Given the description of an element on the screen output the (x, y) to click on. 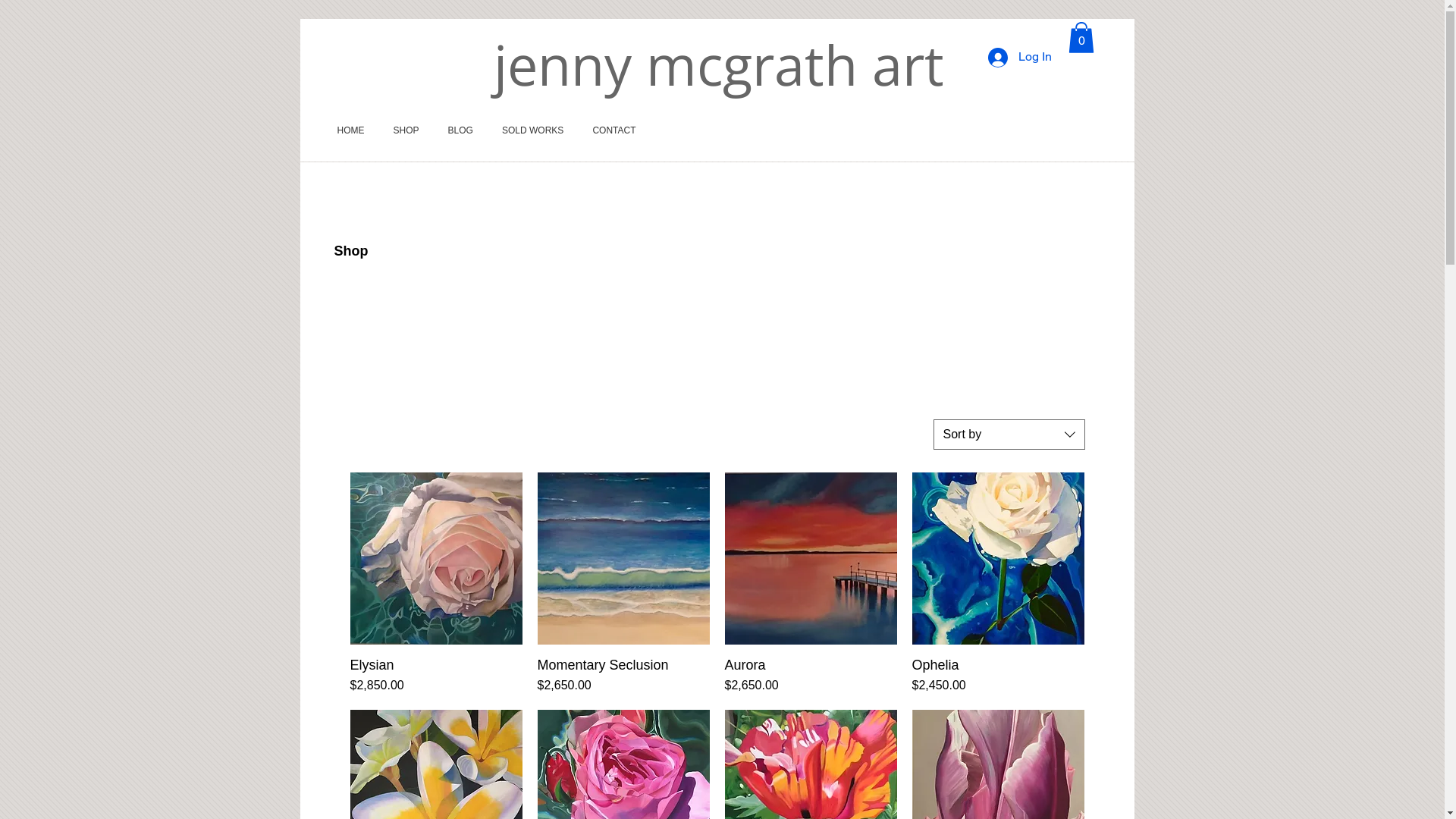
SOLD WORKS Element type: text (532, 130)
Aurora
Price
$2,650.00 Element type: text (810, 675)
SHOP Element type: text (406, 130)
Log In Element type: text (1018, 57)
0 Element type: text (1080, 37)
Momentary Seclusion
Price
$2,650.00 Element type: text (622, 675)
Ophelia
Price
$2,450.00 Element type: text (997, 675)
CONTACT Element type: text (613, 130)
HOME Element type: text (351, 130)
Elysian
Price
$2,850.00 Element type: text (436, 675)
Sort by Element type: text (1008, 434)
BLOG Element type: text (460, 130)
